Given the description of an element on the screen output the (x, y) to click on. 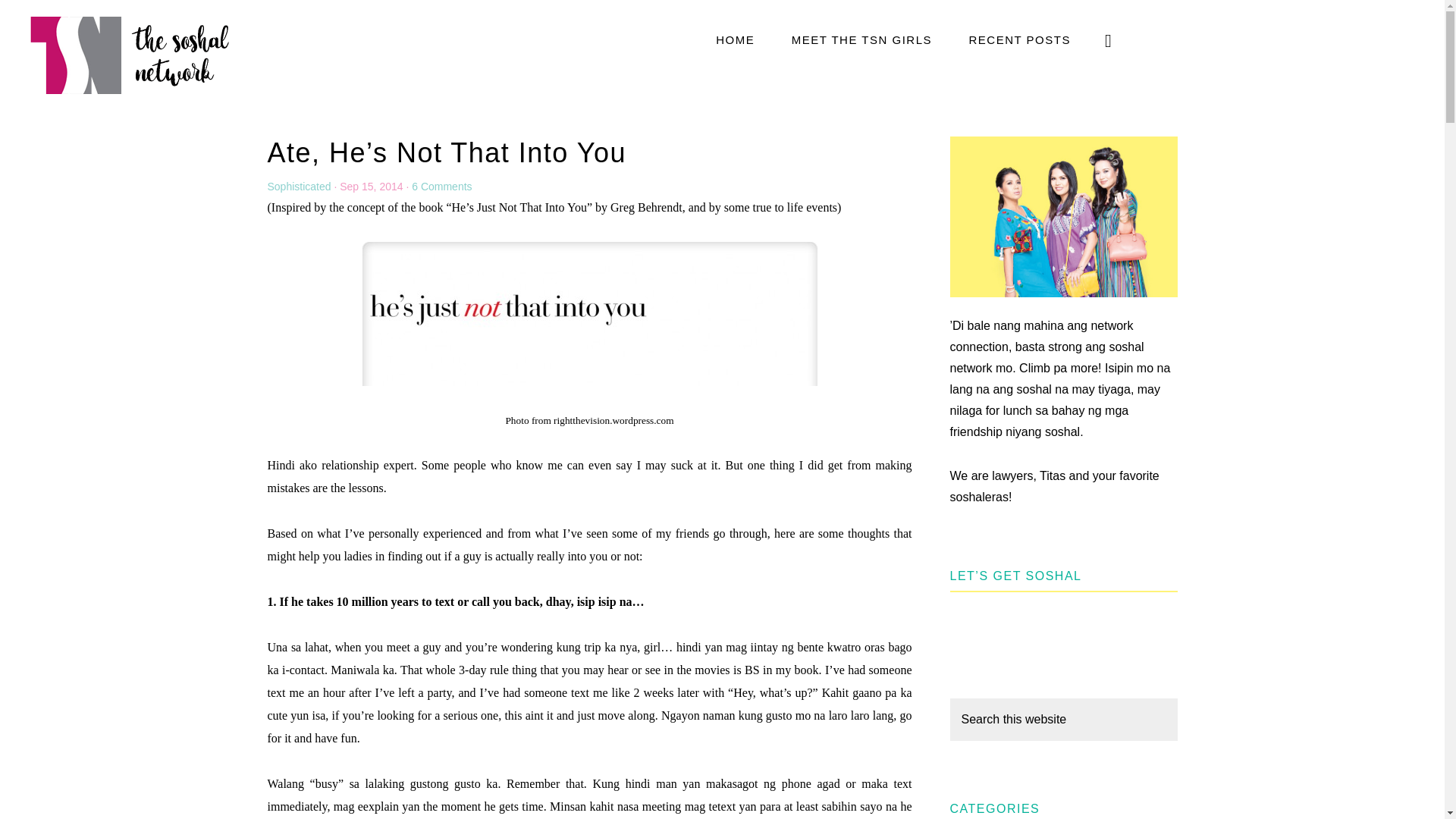
MEET THE TSN GIRLS (861, 39)
THE SOSHAL NETWORK (129, 54)
SHOW SEARCH (1109, 39)
HOME (734, 39)
RECENT POSTS (1019, 39)
6 Comments (441, 186)
Sophisticated (298, 186)
